Given the description of an element on the screen output the (x, y) to click on. 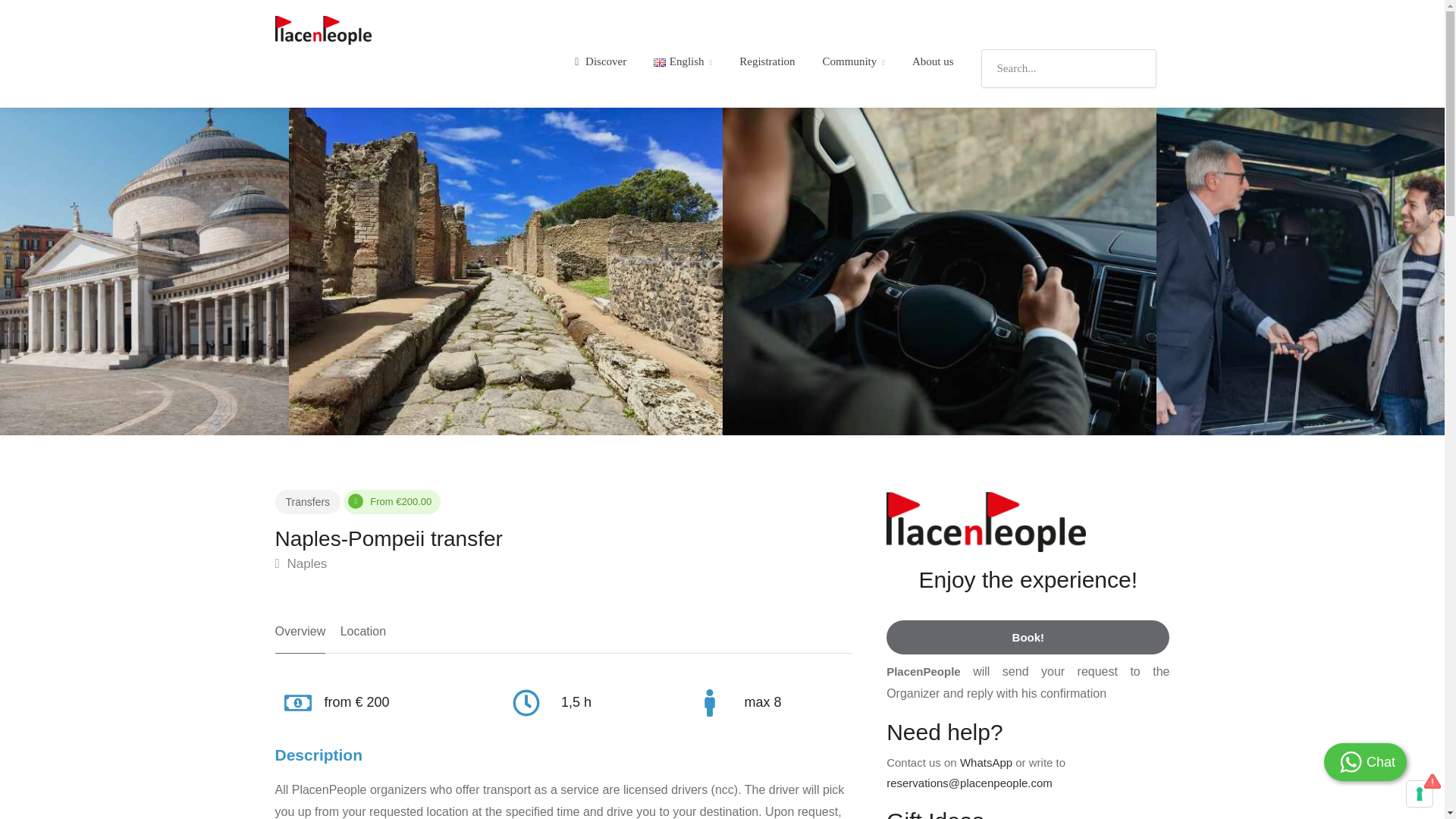
Naples (300, 563)
Transfers (307, 501)
Location (363, 636)
About us (933, 61)
Discover (600, 61)
Overview (299, 636)
Community (853, 61)
Place n People (323, 29)
Registration (767, 61)
English (682, 61)
